Given the description of an element on the screen output the (x, y) to click on. 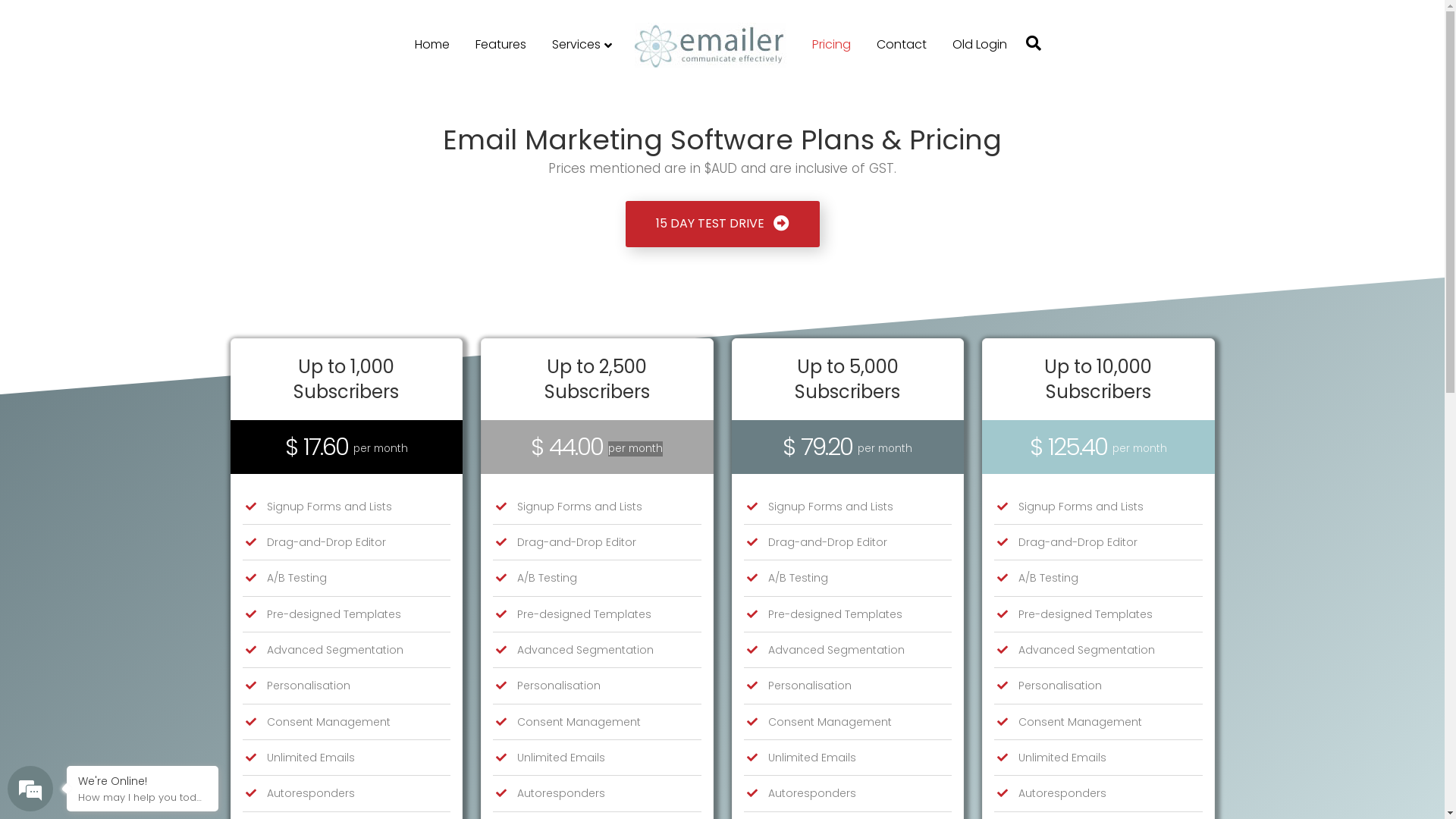
Contact Element type: text (901, 44)
Services Element type: text (581, 45)
Home Element type: text (432, 44)
Old Login Element type: text (979, 44)
Features Element type: text (500, 44)
Pricing Element type: text (831, 44)
15 DAY TEST DRIVE Element type: text (721, 223)
